Given the description of an element on the screen output the (x, y) to click on. 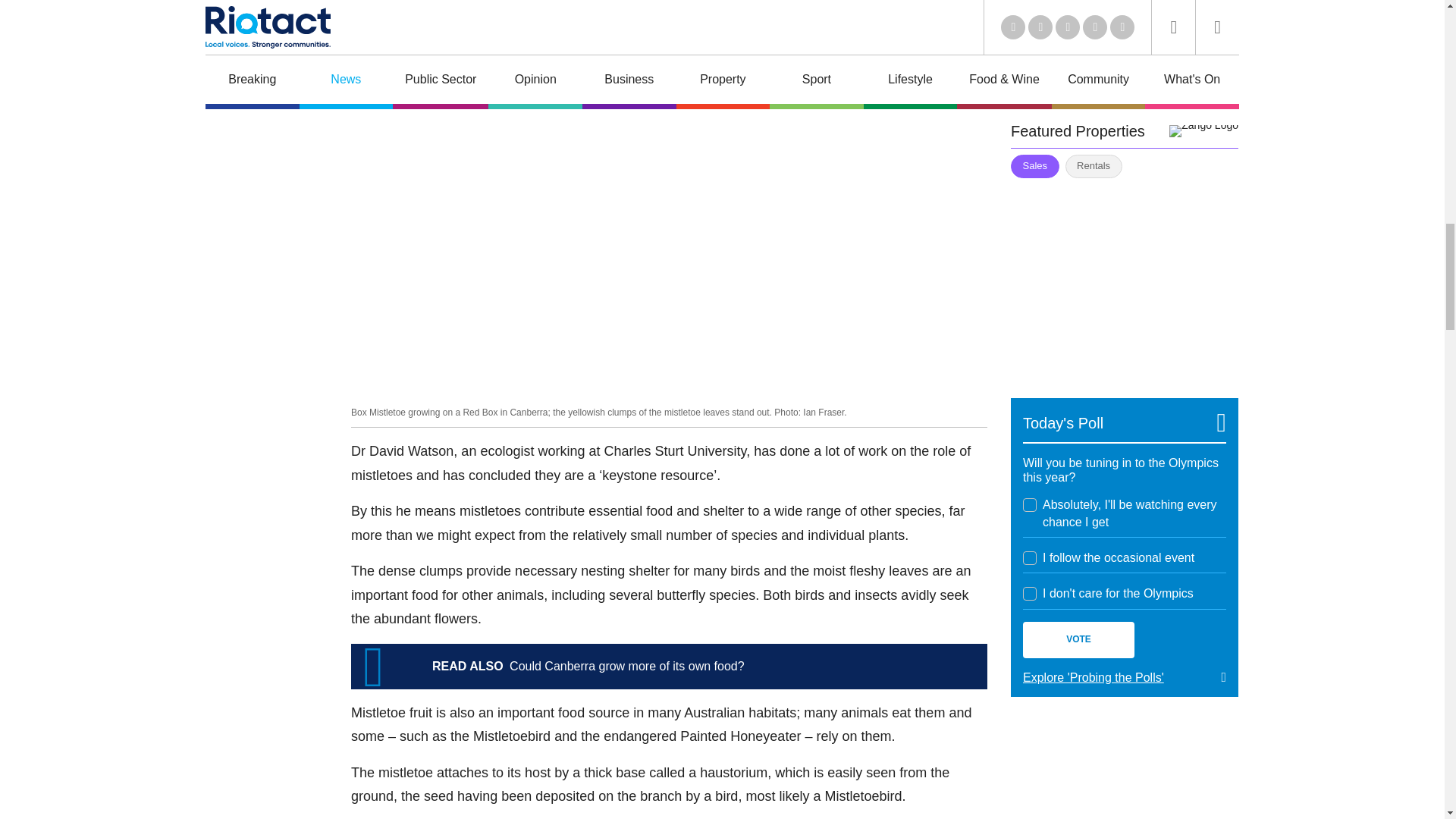
2044 (1029, 558)
Zango Sales (1124, 278)
   Vote    (1078, 639)
2043 (1029, 504)
Zango (1204, 131)
2045 (1029, 593)
